Given the description of an element on the screen output the (x, y) to click on. 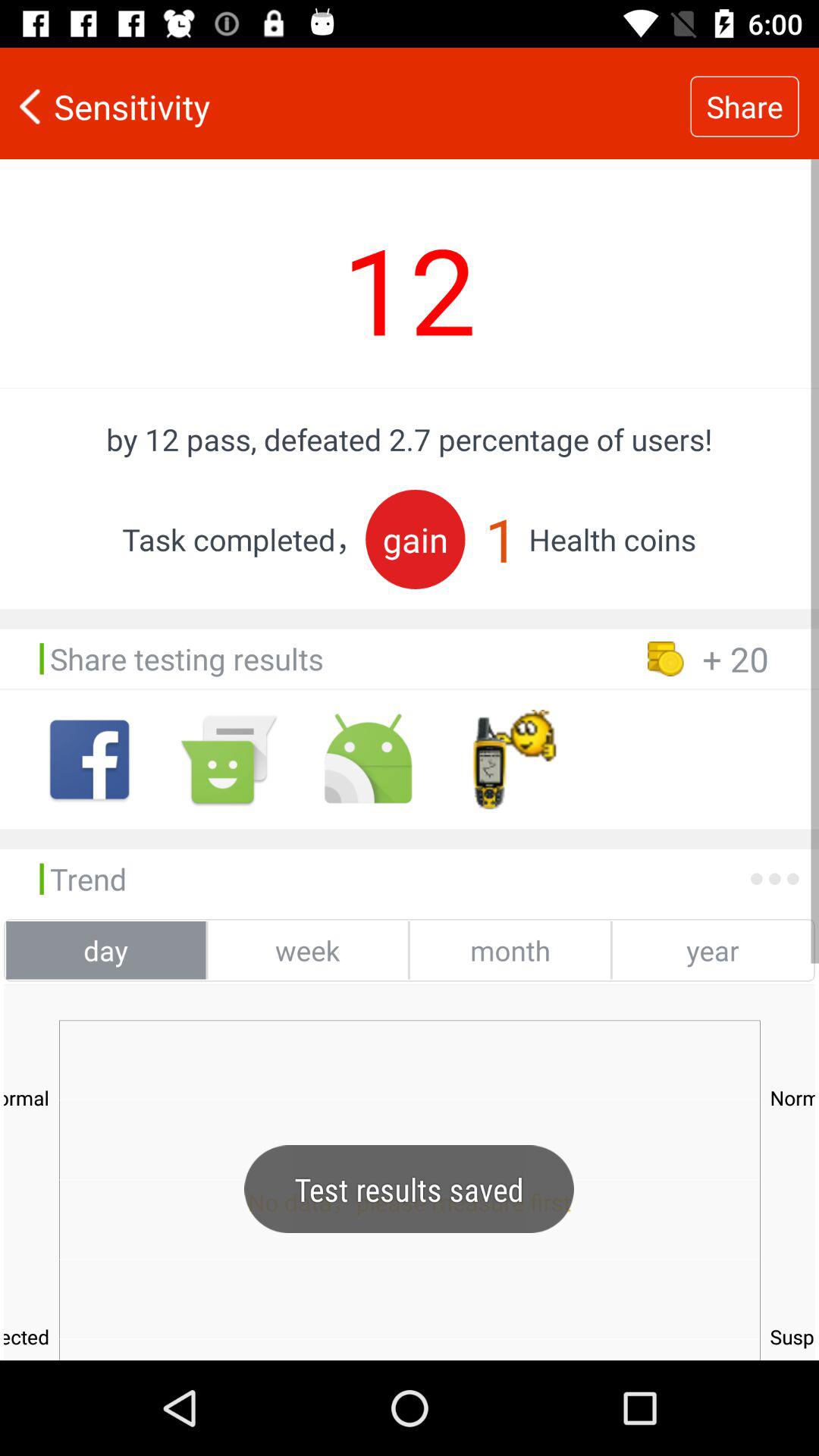
go to facebook app (89, 759)
